Given the description of an element on the screen output the (x, y) to click on. 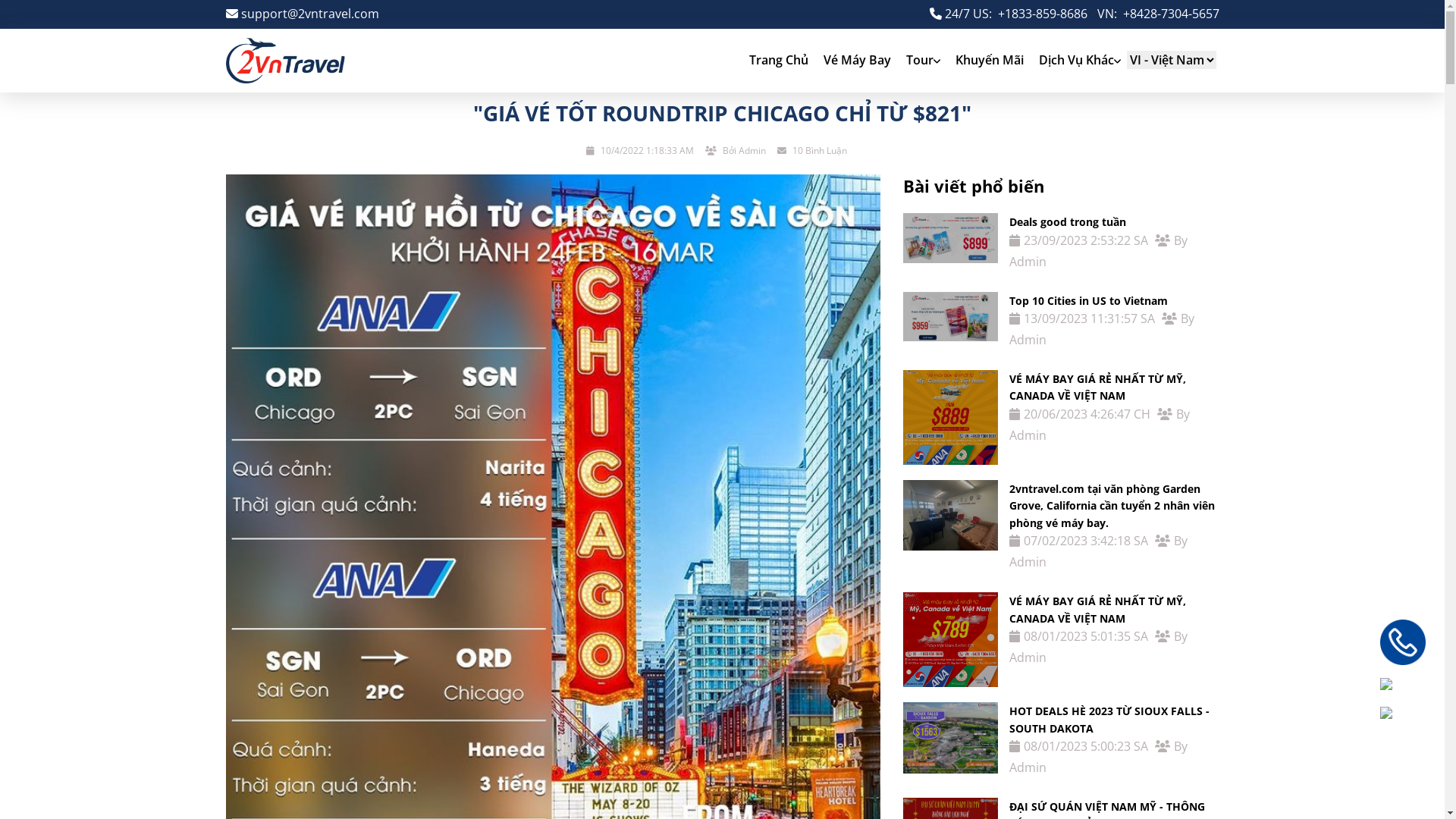
24/7 US:  +1833-859-8686 Element type: text (1008, 13)
VN:  +8428-7304-5657 Element type: text (1157, 13)
Top 10 Cities in US to Vietnam Element type: text (1088, 300)
 support@2vntravel.com Element type: text (302, 13)
Tour Element type: text (922, 60)
